Given the description of an element on the screen output the (x, y) to click on. 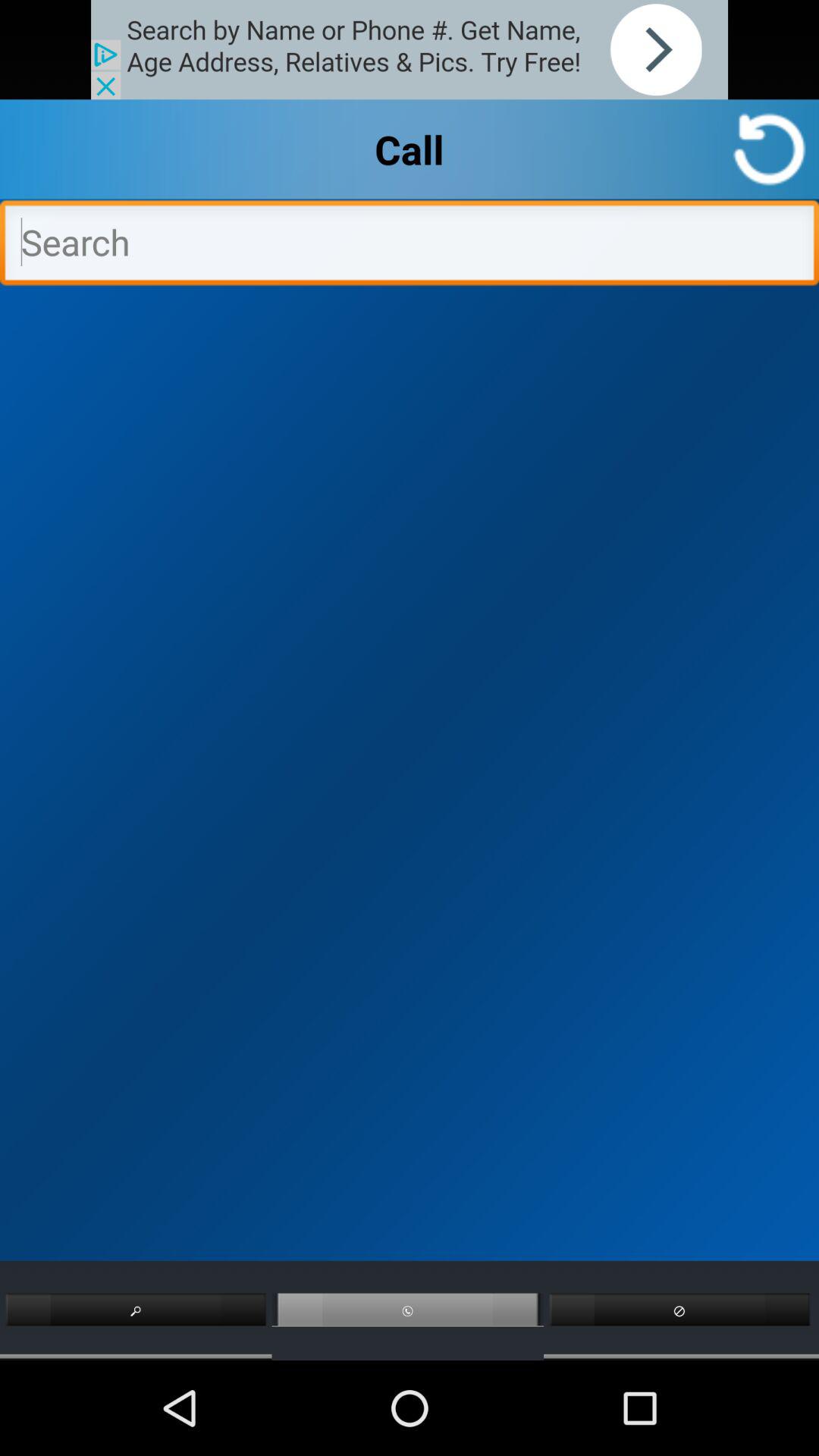
enter text to search (409, 246)
